Given the description of an element on the screen output the (x, y) to click on. 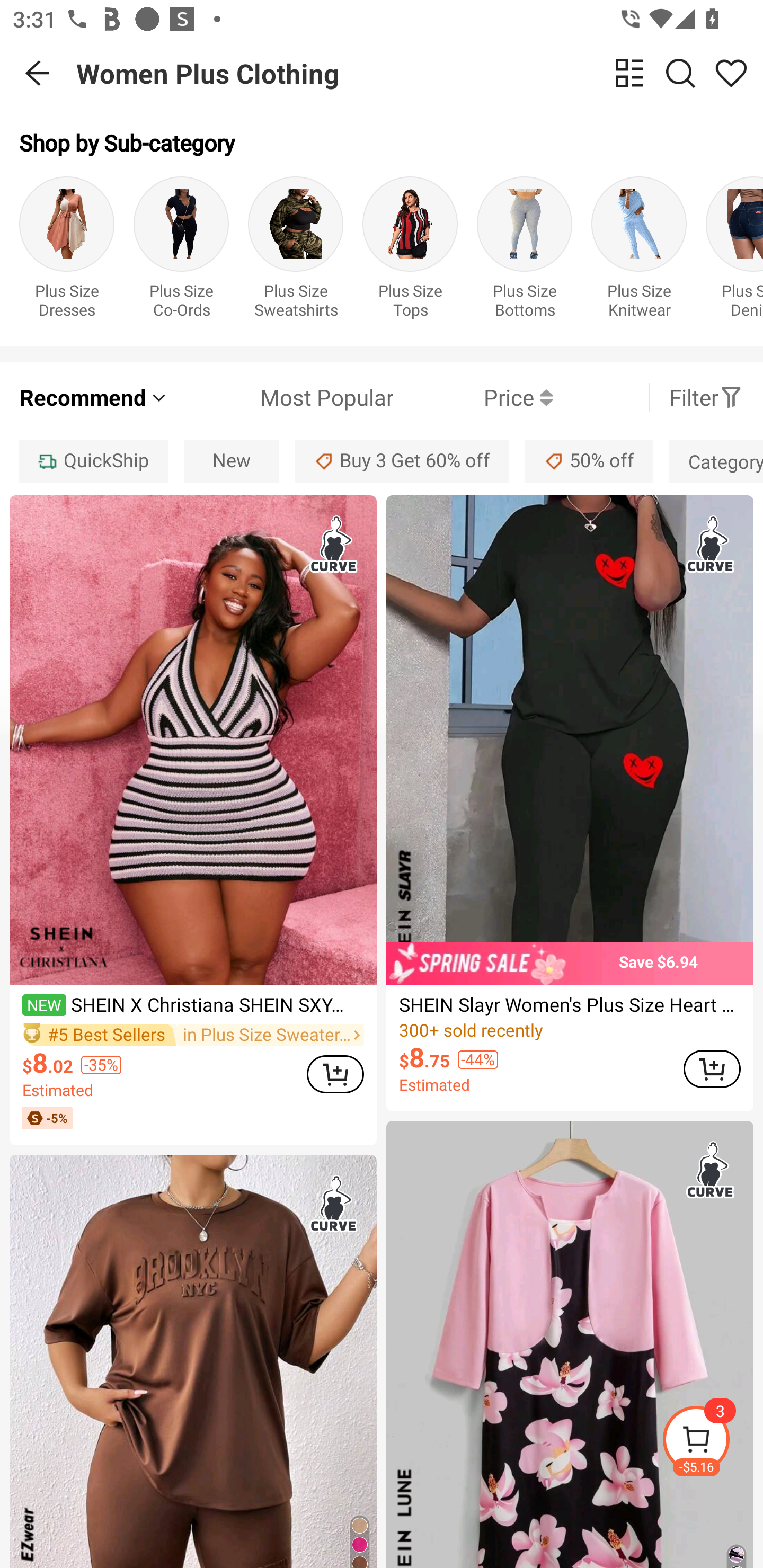
Women Plus Clothing change view Search Share (419, 72)
change view (629, 72)
Search (679, 72)
Share (730, 72)
Plus Size Dresses (66, 251)
Plus Size Co-Ords (180, 251)
Plus Size Sweatshirts (295, 251)
Plus Size Tops (409, 251)
Plus Size Bottoms (524, 251)
Plus Size Knitwear (638, 251)
Plus Size Denim (734, 251)
Recommend (94, 397)
Most Popular (280, 397)
Price (472, 397)
Filter (705, 397)
QuickShip (93, 460)
New (231, 460)
Buy 3 Get 60% off (401, 460)
50% off (588, 460)
#5 Best Sellers in Plus Size Sweater Dresses (192, 1034)
ADD TO CART (711, 1069)
ADD TO CART (334, 1073)
-$5.16 (712, 1441)
